Given the description of an element on the screen output the (x, y) to click on. 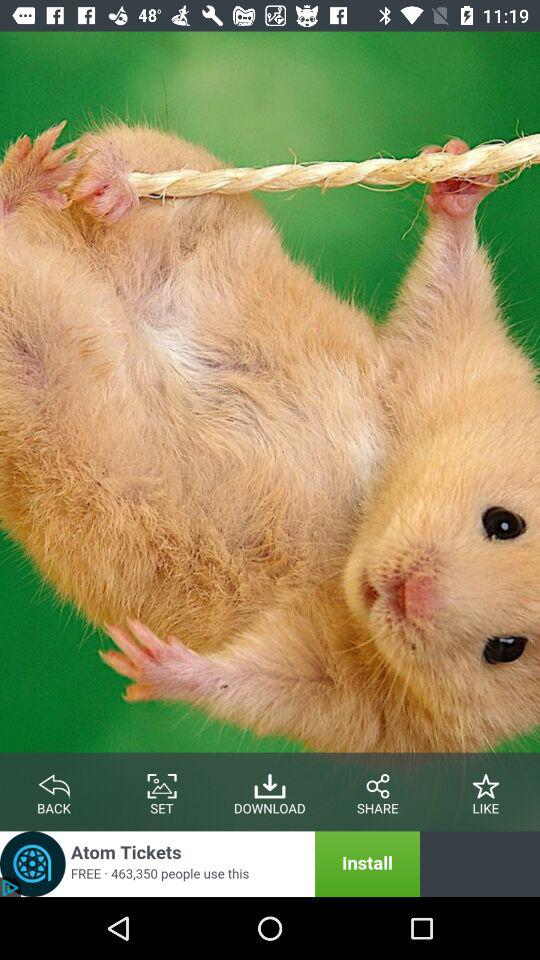
view advertisement (210, 864)
